Given the description of an element on the screen output the (x, y) to click on. 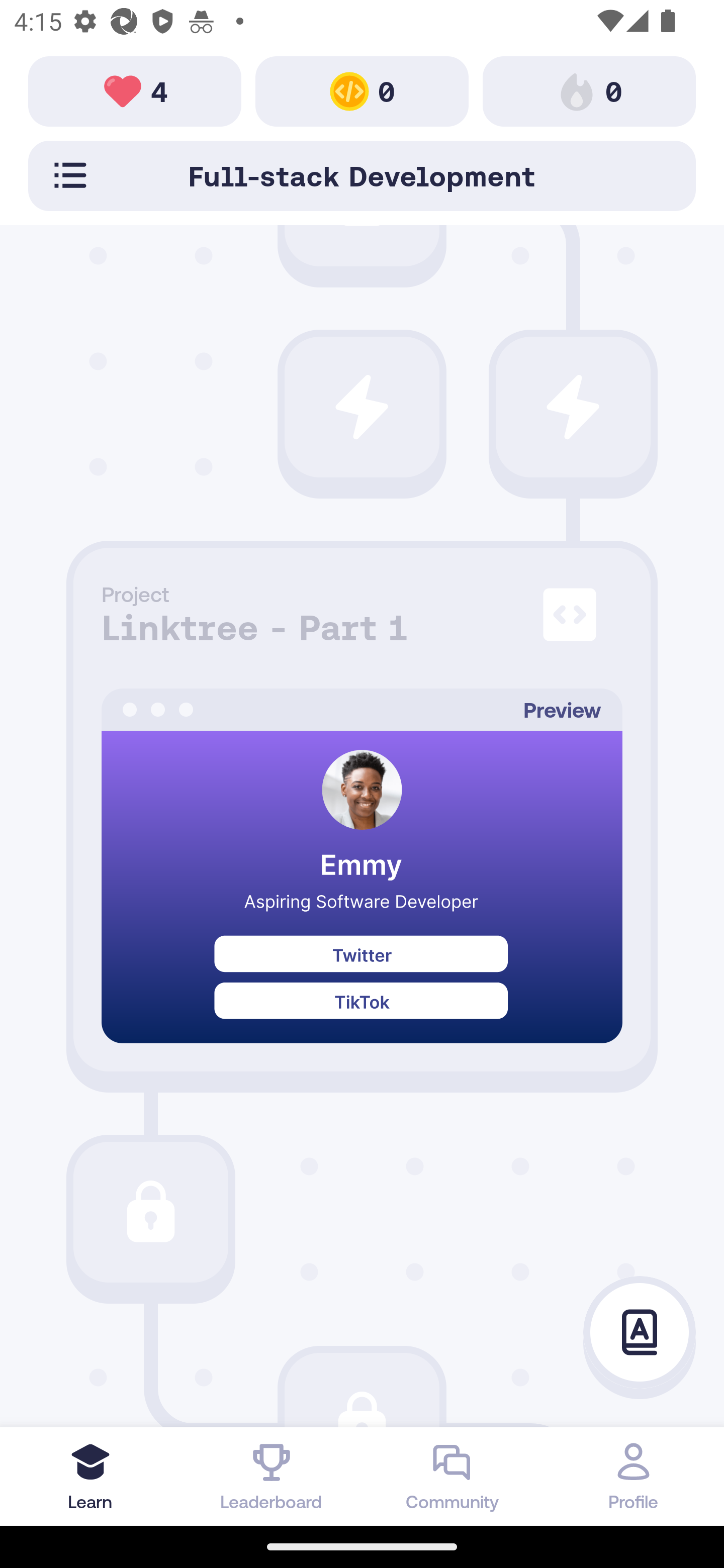
Path Toolbar Image 4 (134, 90)
Path Toolbar Image 0 (361, 90)
Path Toolbar Image 0 (588, 90)
Path Toolbar Selector Full-stack Development (361, 175)
Path Icon (361, 406)
Path Icon (572, 406)
Path Icon (150, 1211)
Glossary Icon (639, 1332)
Path Icon (361, 1389)
Leaderboard (271, 1475)
Community (452, 1475)
Profile (633, 1475)
